Given the description of an element on the screen output the (x, y) to click on. 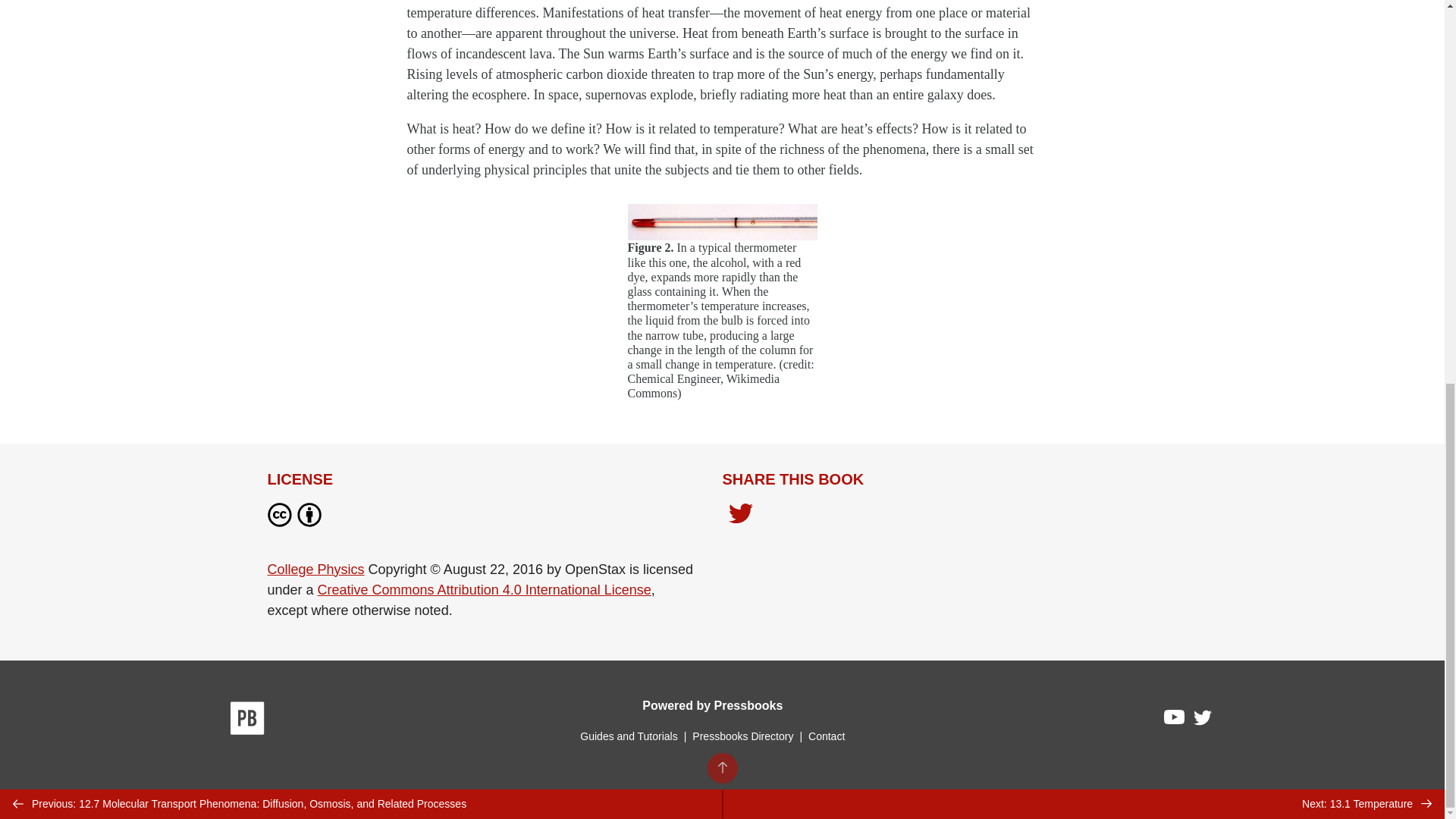
Guides and Tutorials (627, 736)
Contact (826, 736)
Share on Twitter (740, 517)
Pressbooks on YouTube (1174, 721)
Powered by Pressbooks (712, 705)
Creative Commons Attribution 4.0 International License (483, 589)
BACK TO TOP (721, 48)
Pressbooks Directory (742, 736)
